Given the description of an element on the screen output the (x, y) to click on. 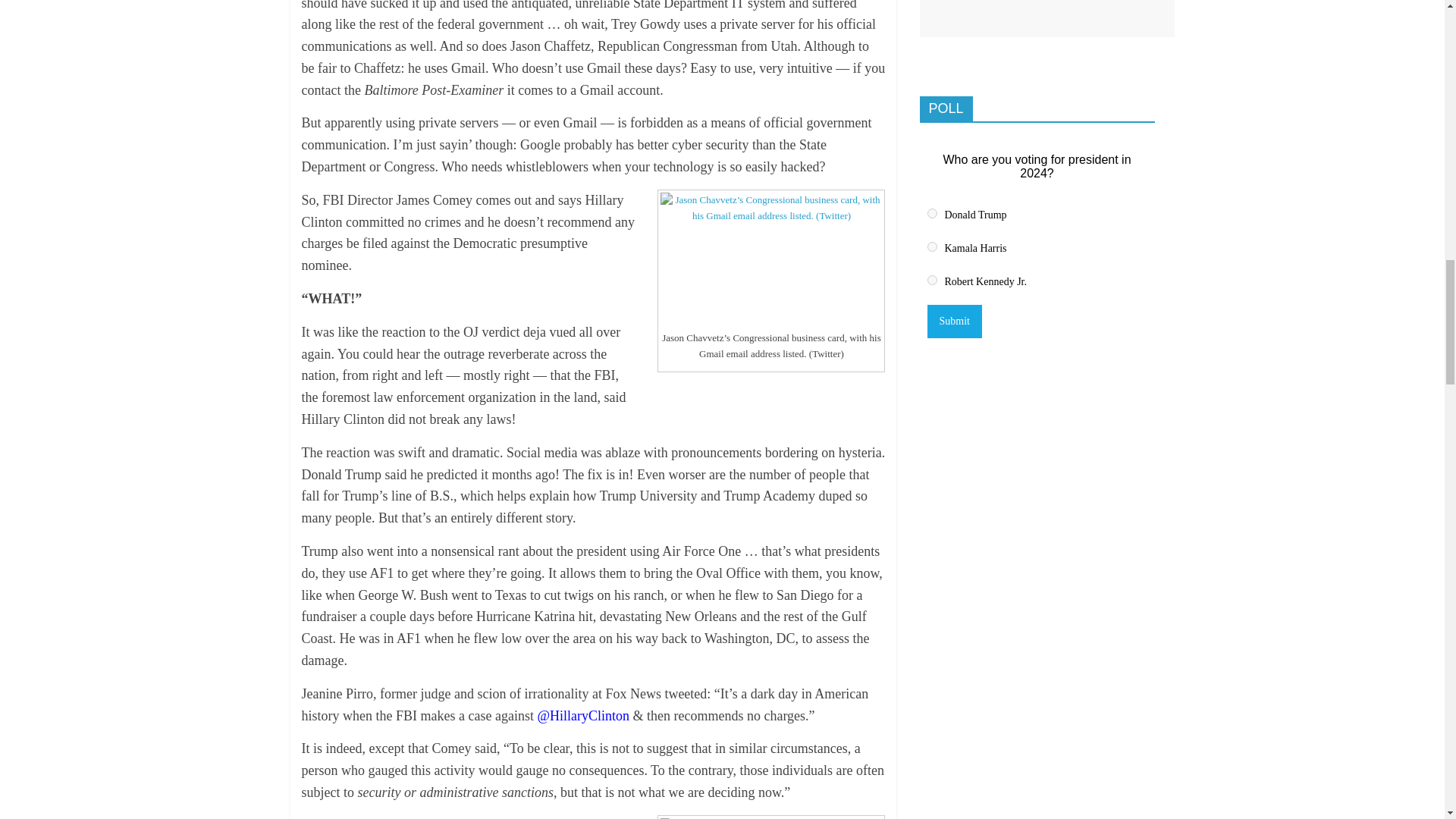
1 (931, 213)
2 (931, 246)
3 (931, 280)
